Given the description of an element on the screen output the (x, y) to click on. 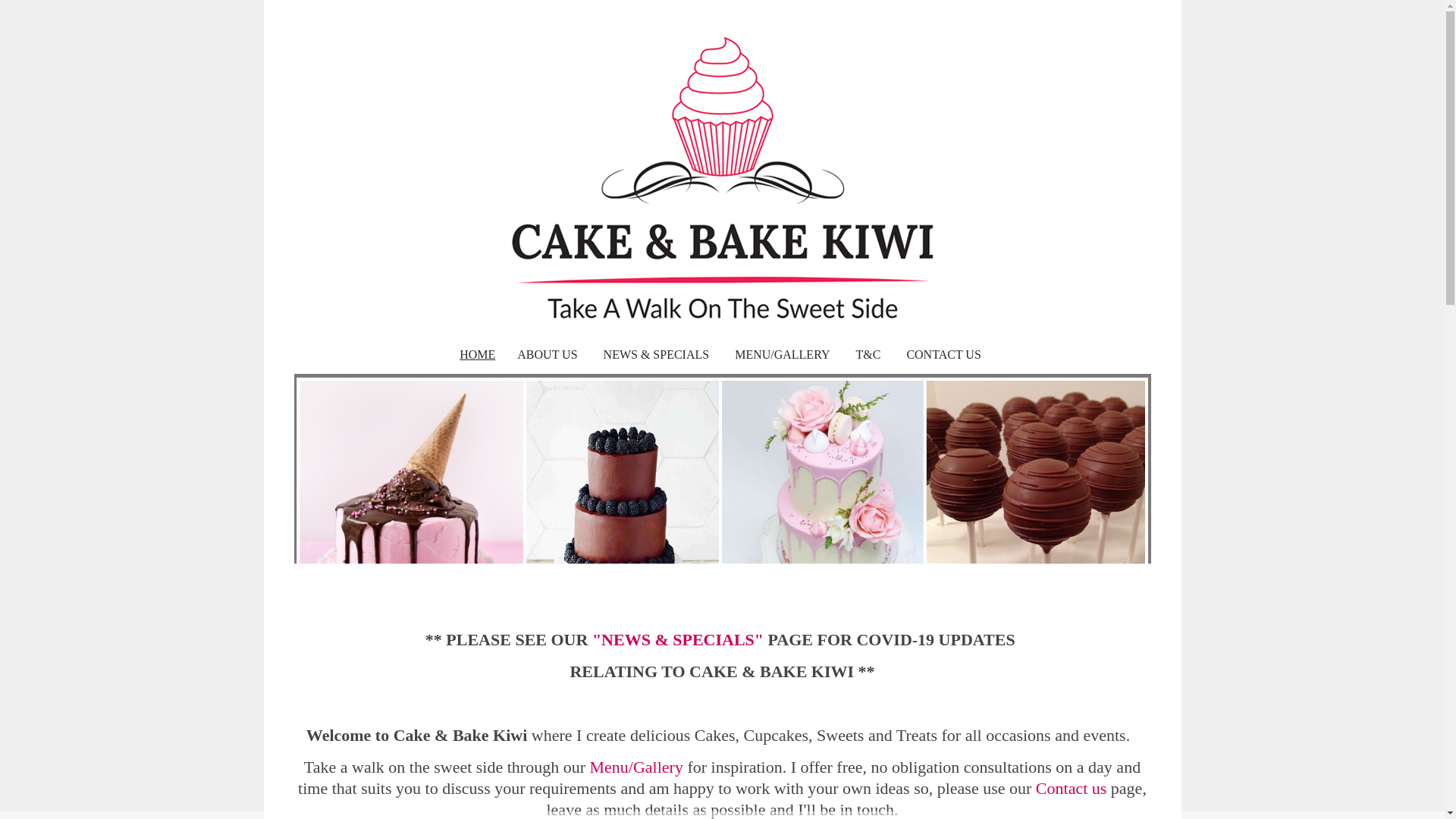
HOME (476, 354)
Contact us (1070, 787)
CONTACT US (943, 354)
ABOUT US (547, 354)
